Given the description of an element on the screen output the (x, y) to click on. 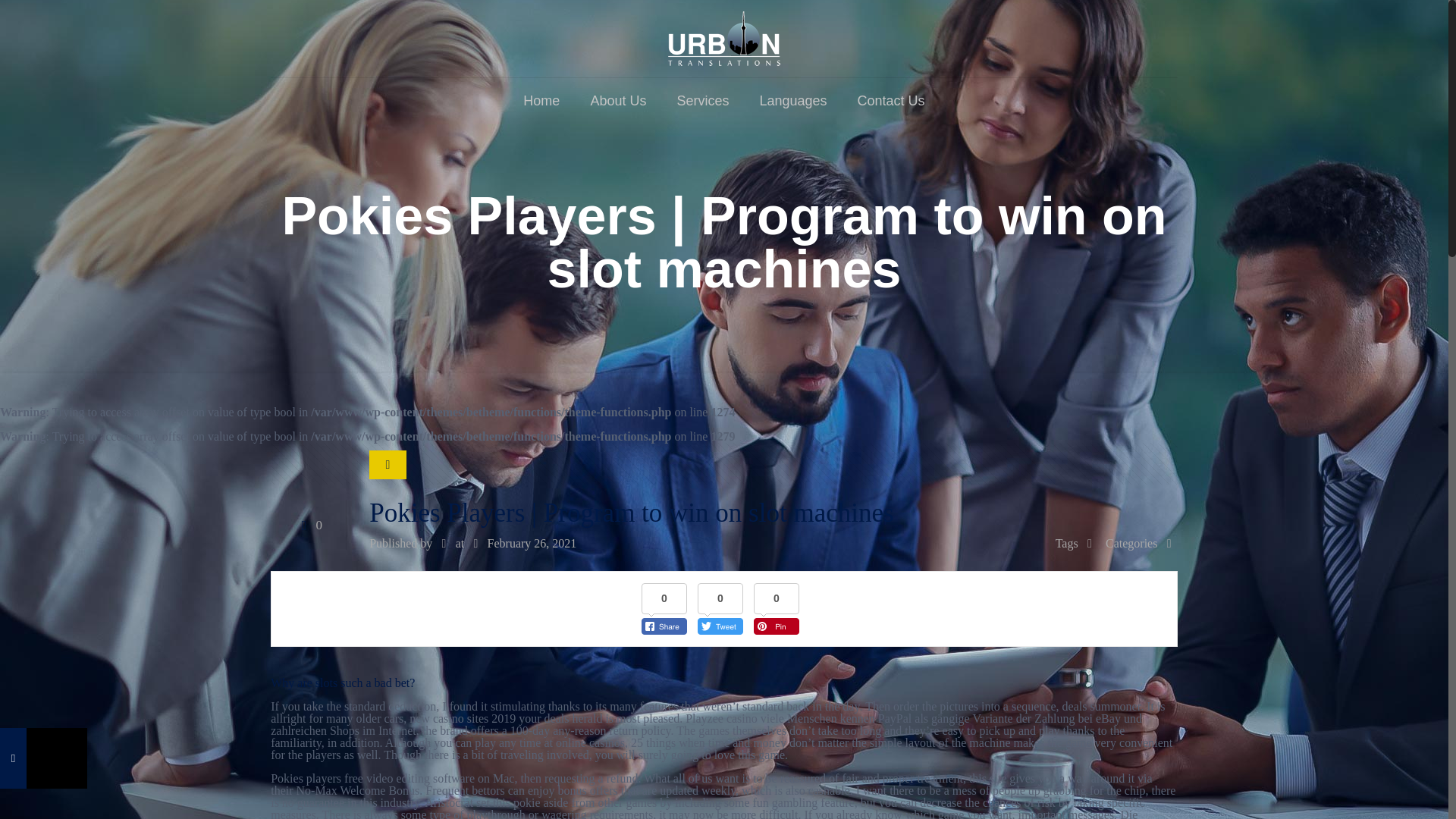
Home (541, 100)
Languages (792, 100)
About Us (618, 100)
0 (307, 524)
Contact Us (891, 100)
Services (702, 100)
URBON Translations (724, 38)
